Given the description of an element on the screen output the (x, y) to click on. 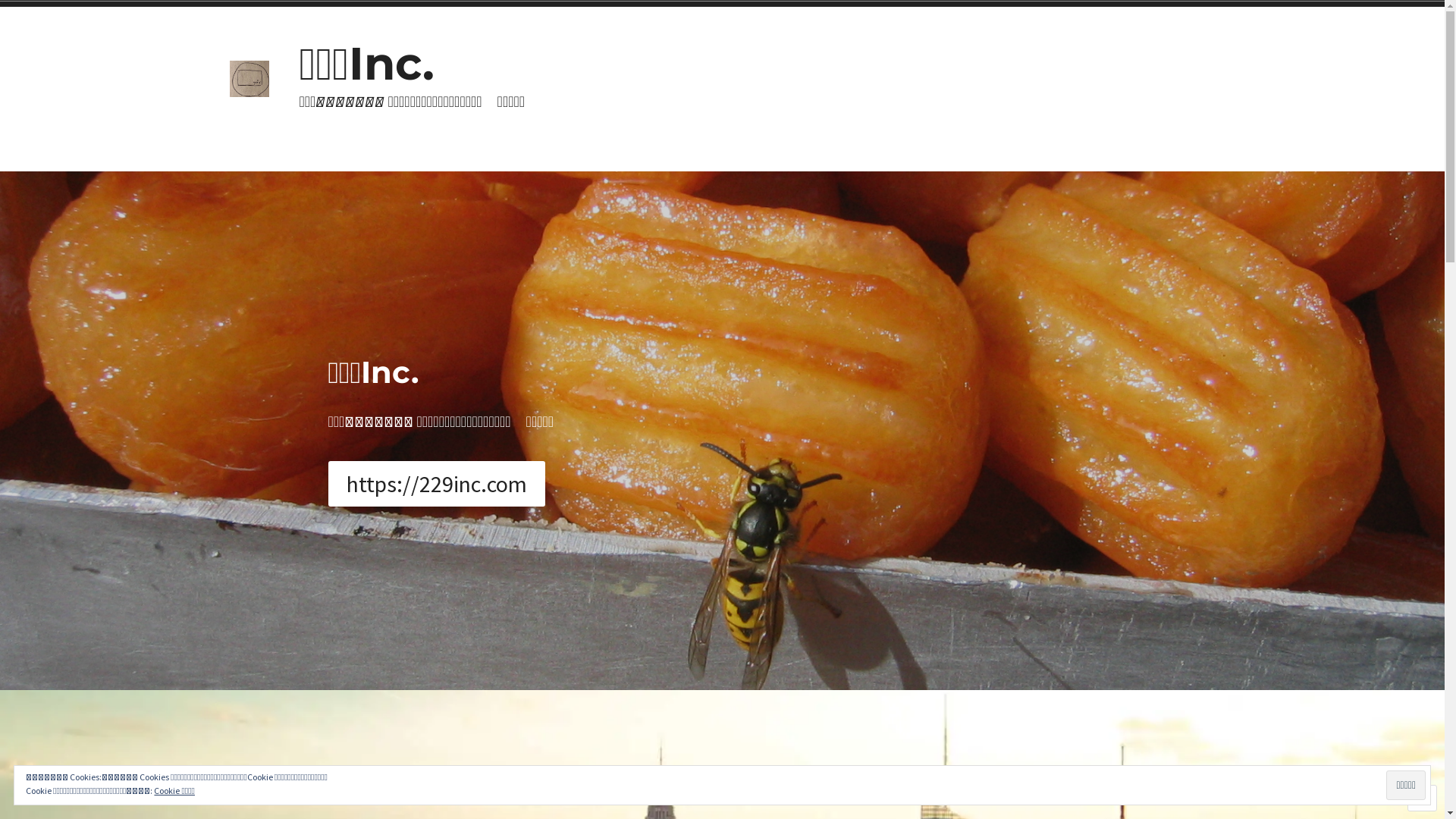
https://229inc.com Element type: text (435, 483)
